Given the description of an element on the screen output the (x, y) to click on. 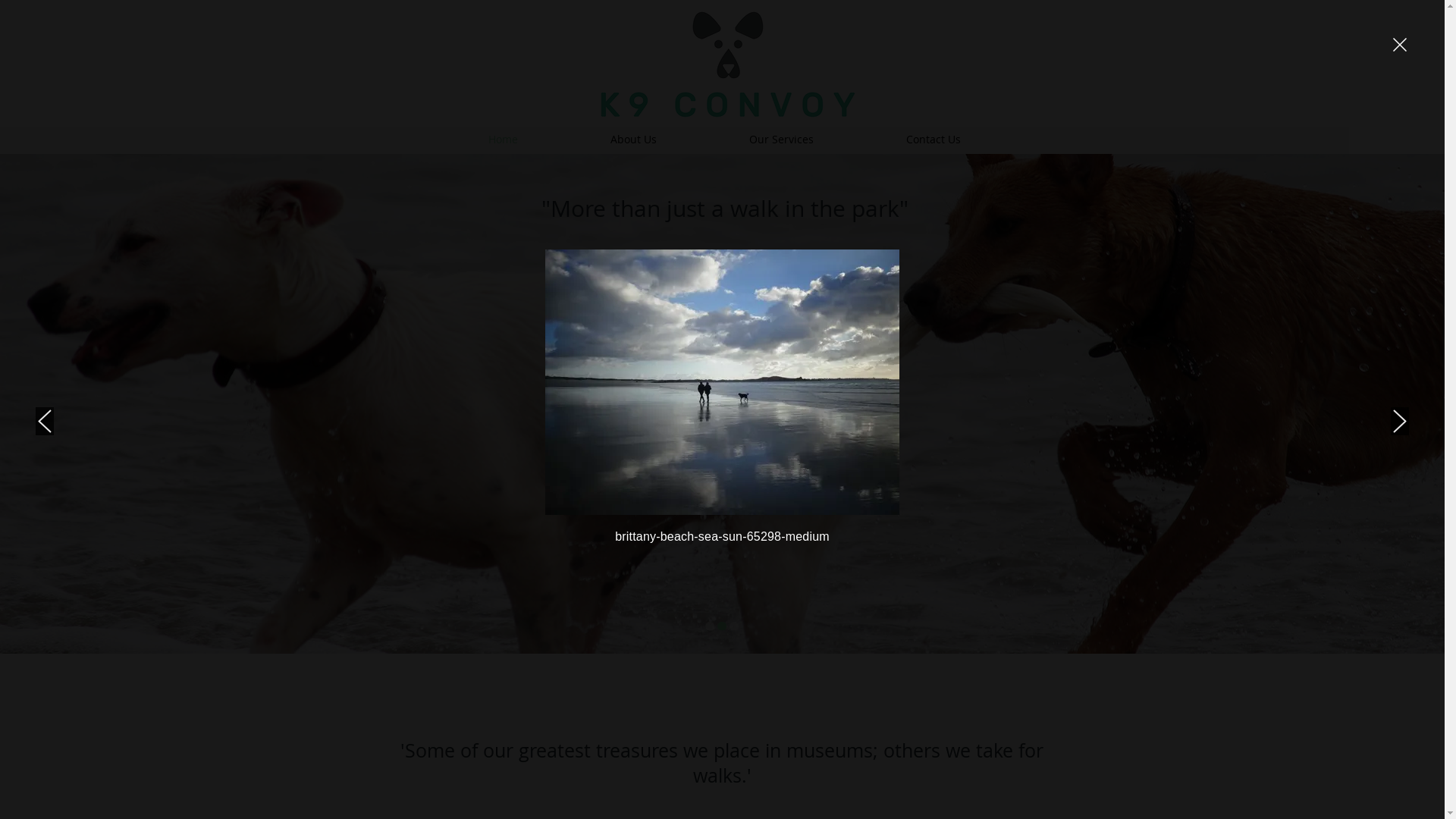
Our Services Element type: text (780, 138)
Contact Us Element type: text (933, 138)
K9 Convoy.Png Element type: hover (727, 63)
Home Element type: text (502, 138)
About Us Element type: text (633, 138)
